Given the description of an element on the screen output the (x, y) to click on. 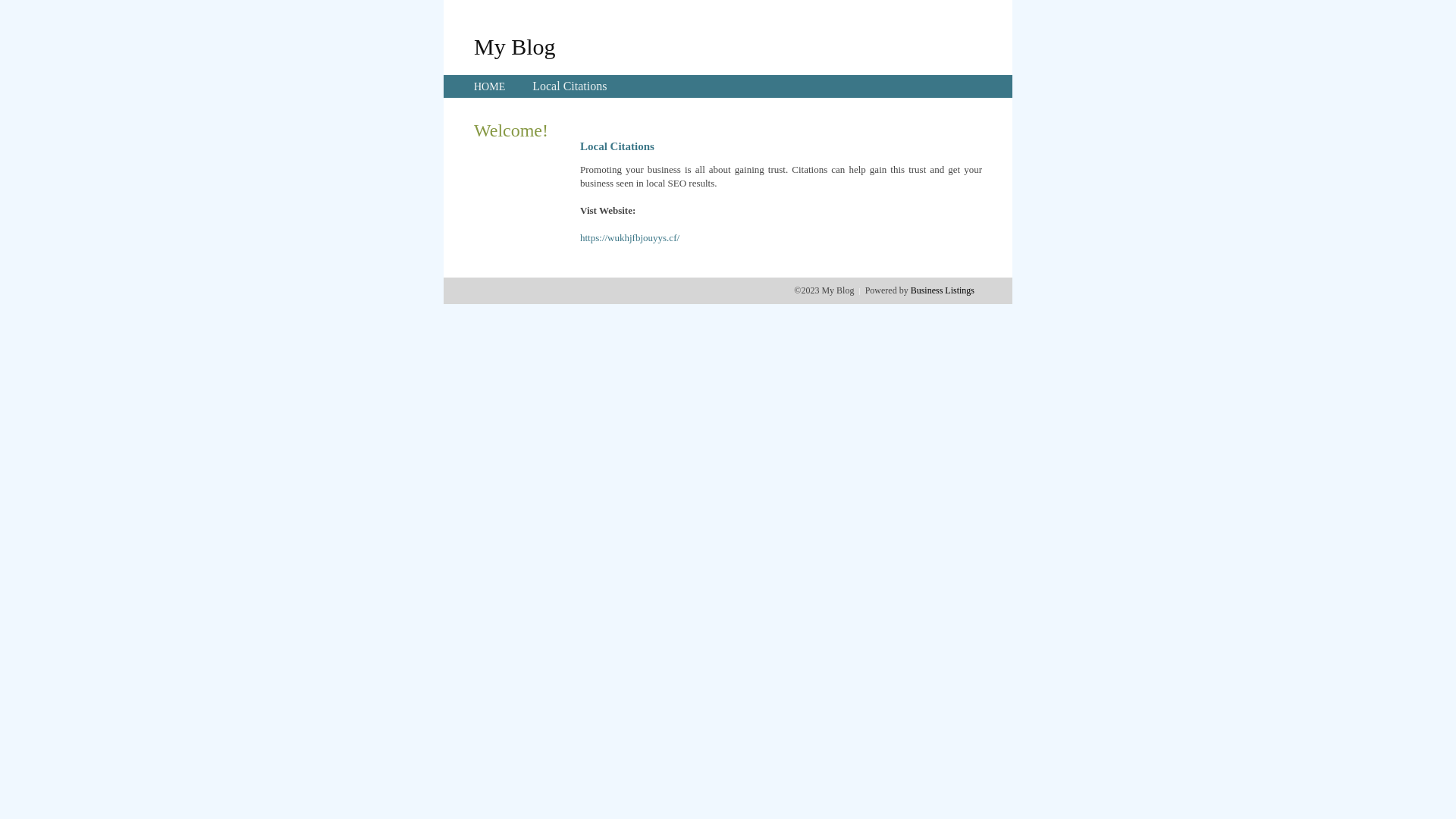
My Blog Element type: text (514, 46)
Business Listings Element type: text (942, 290)
HOME Element type: text (489, 86)
https://wukhjfbjouyys.cf/ Element type: text (629, 237)
Local Citations Element type: text (569, 85)
